Given the description of an element on the screen output the (x, y) to click on. 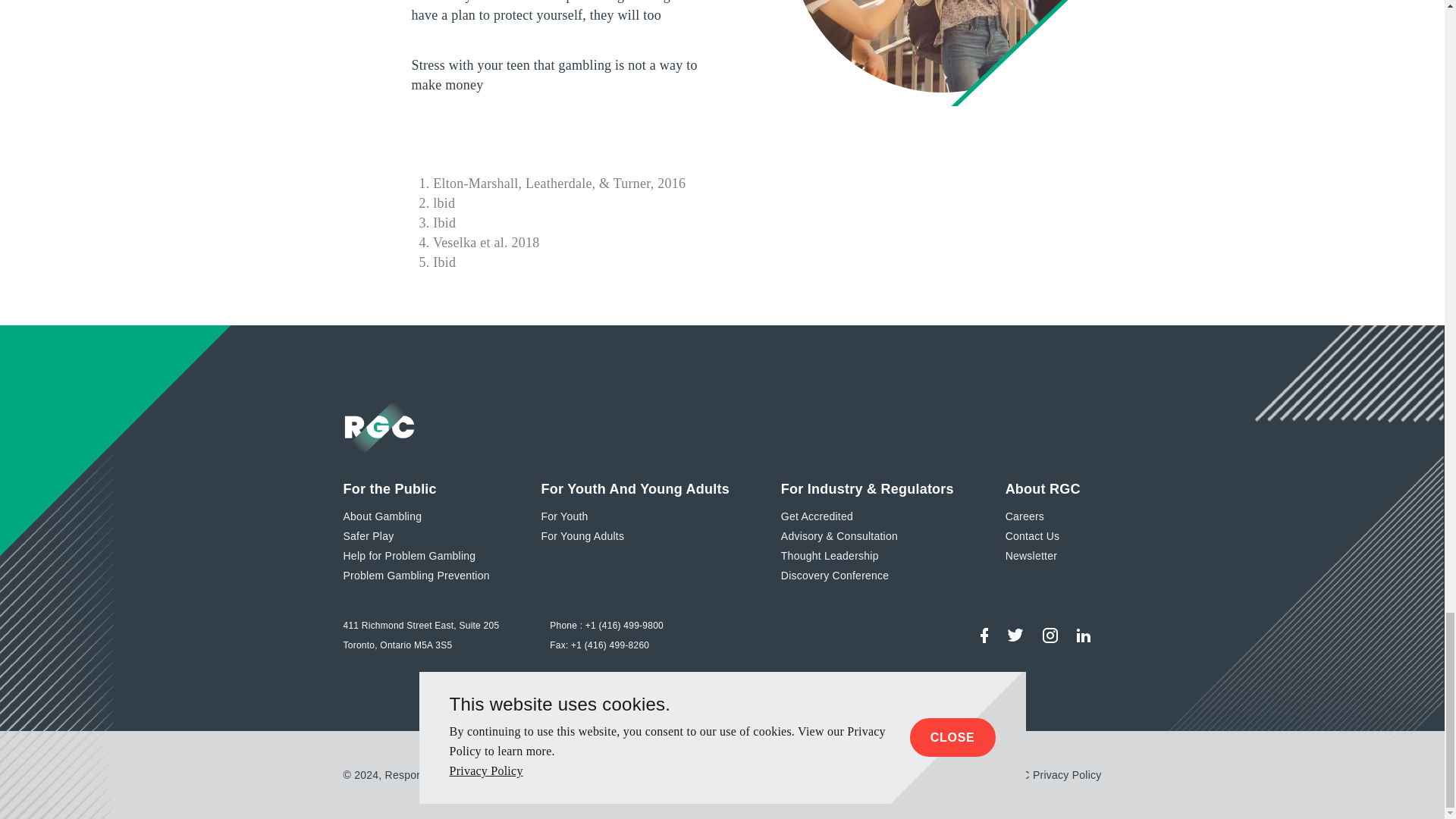
RGC Instagram (1048, 635)
Home (378, 426)
RGC Facebook (983, 635)
RGC LinkedIn (1082, 635)
RGC Twitter (1014, 634)
